Given the description of an element on the screen output the (x, y) to click on. 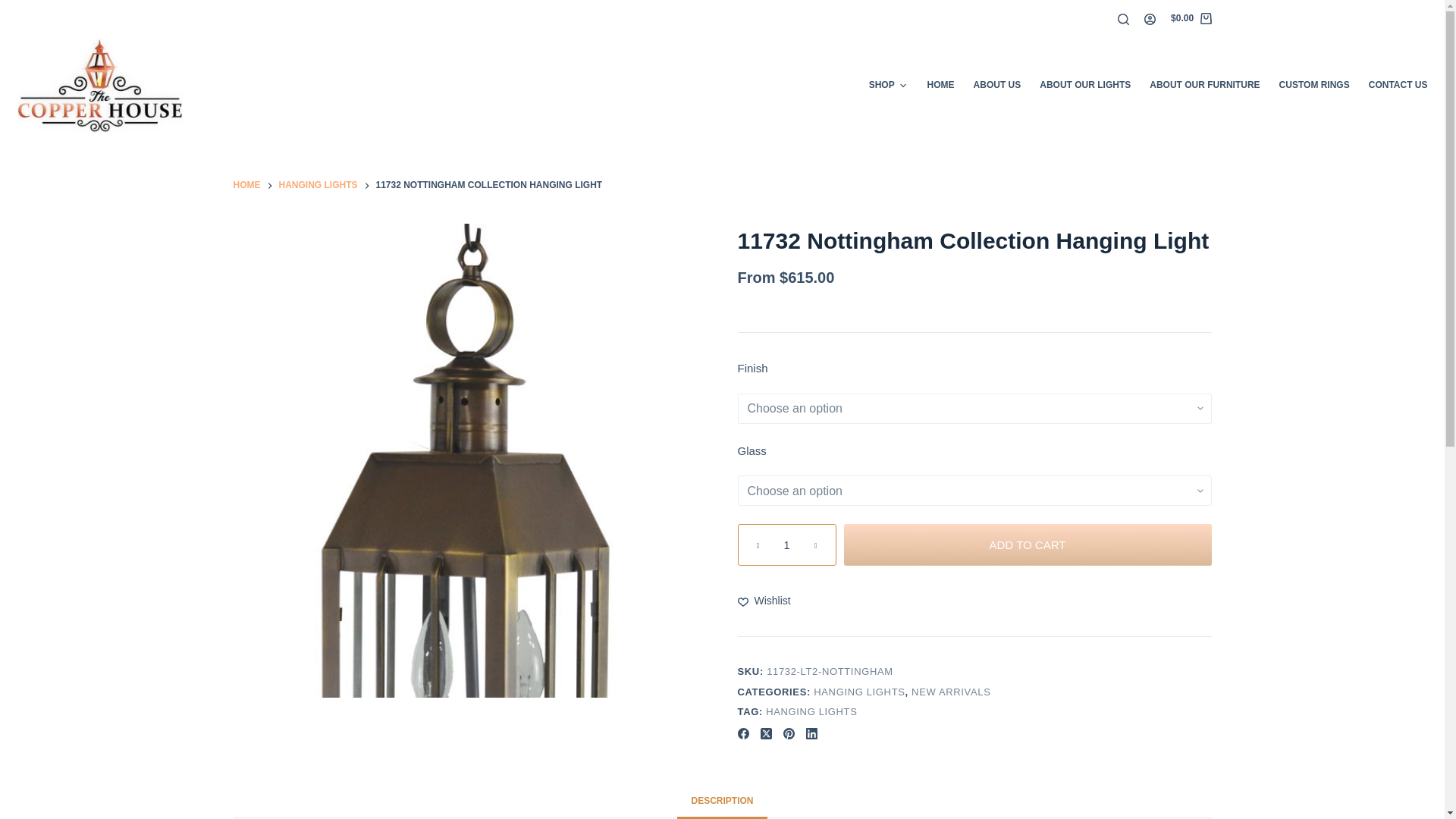
1 (785, 544)
ABOUT OUR FURNITURE (1204, 84)
CUSTOM RINGS (1313, 84)
ABOUT OUR LIGHTS (1085, 84)
Skip to content (15, 7)
